Given the description of an element on the screen output the (x, y) to click on. 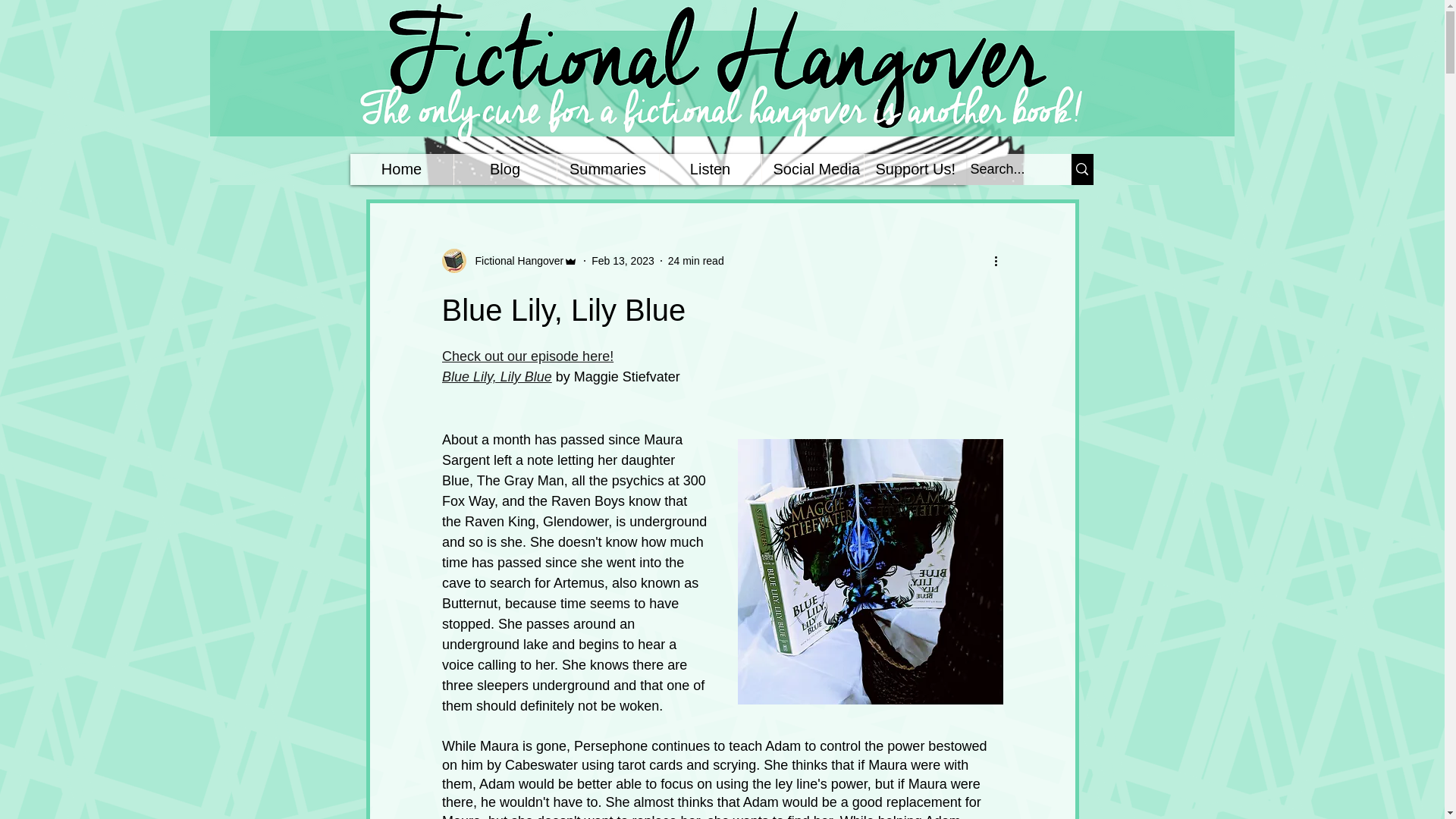
Summaries (607, 169)
Home (401, 169)
24 min read (695, 260)
Blog (504, 169)
Check out our episode here! (526, 355)
Fictional Hangover (509, 260)
Fictional Hangover (514, 261)
Blue Lily, Lily Blue (496, 376)
Feb 13, 2023 (622, 260)
